Given the description of an element on the screen output the (x, y) to click on. 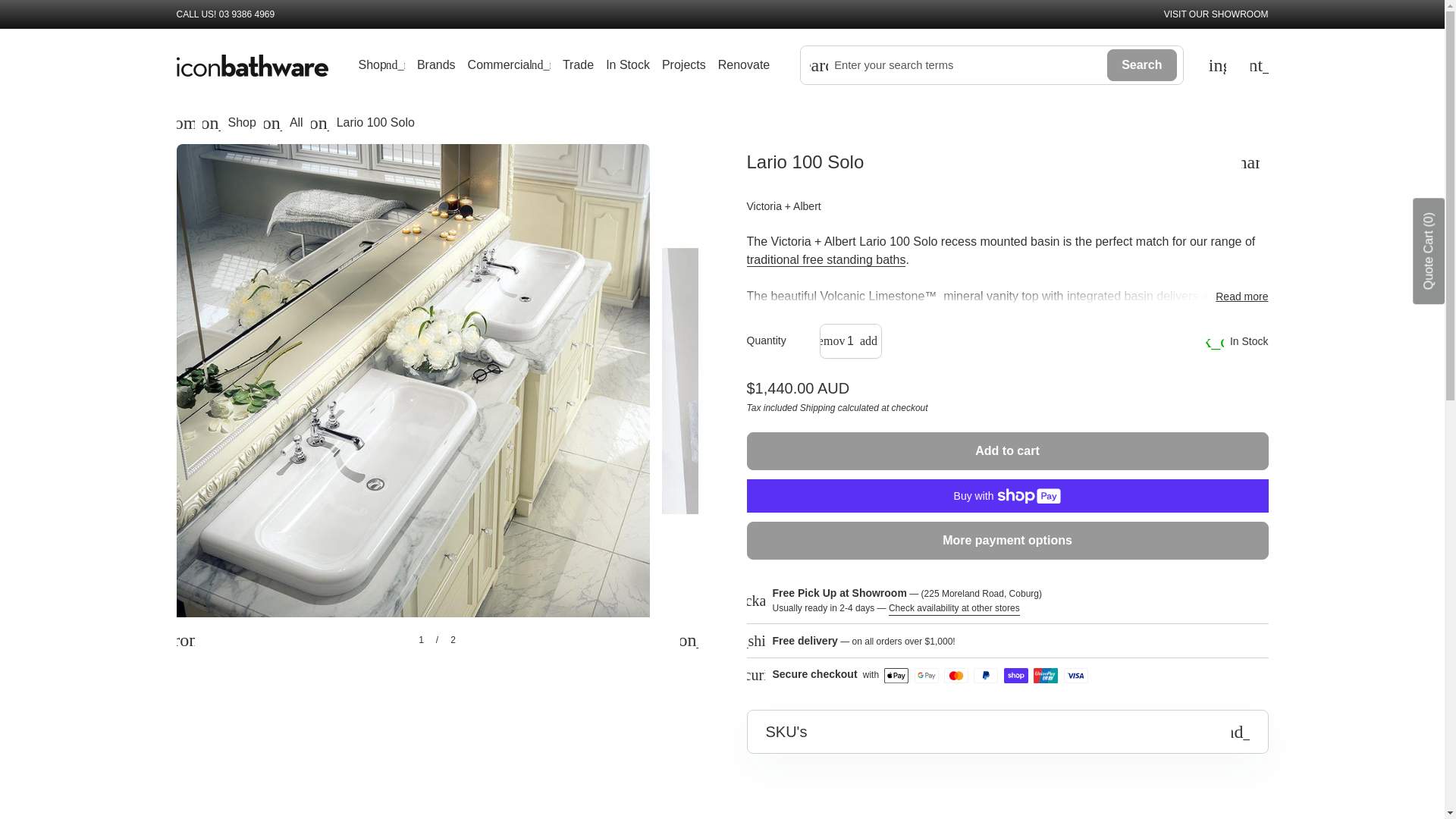
CALL US! 03 9386 4969 (225, 14)
1 (850, 340)
Home (184, 122)
PayPal (985, 675)
Shop Pay (1015, 675)
Apple Pay (895, 675)
Visa (1075, 675)
Union Pay (1045, 675)
Mastercard (955, 675)
Google Pay (926, 675)
